Given the description of an element on the screen output the (x, y) to click on. 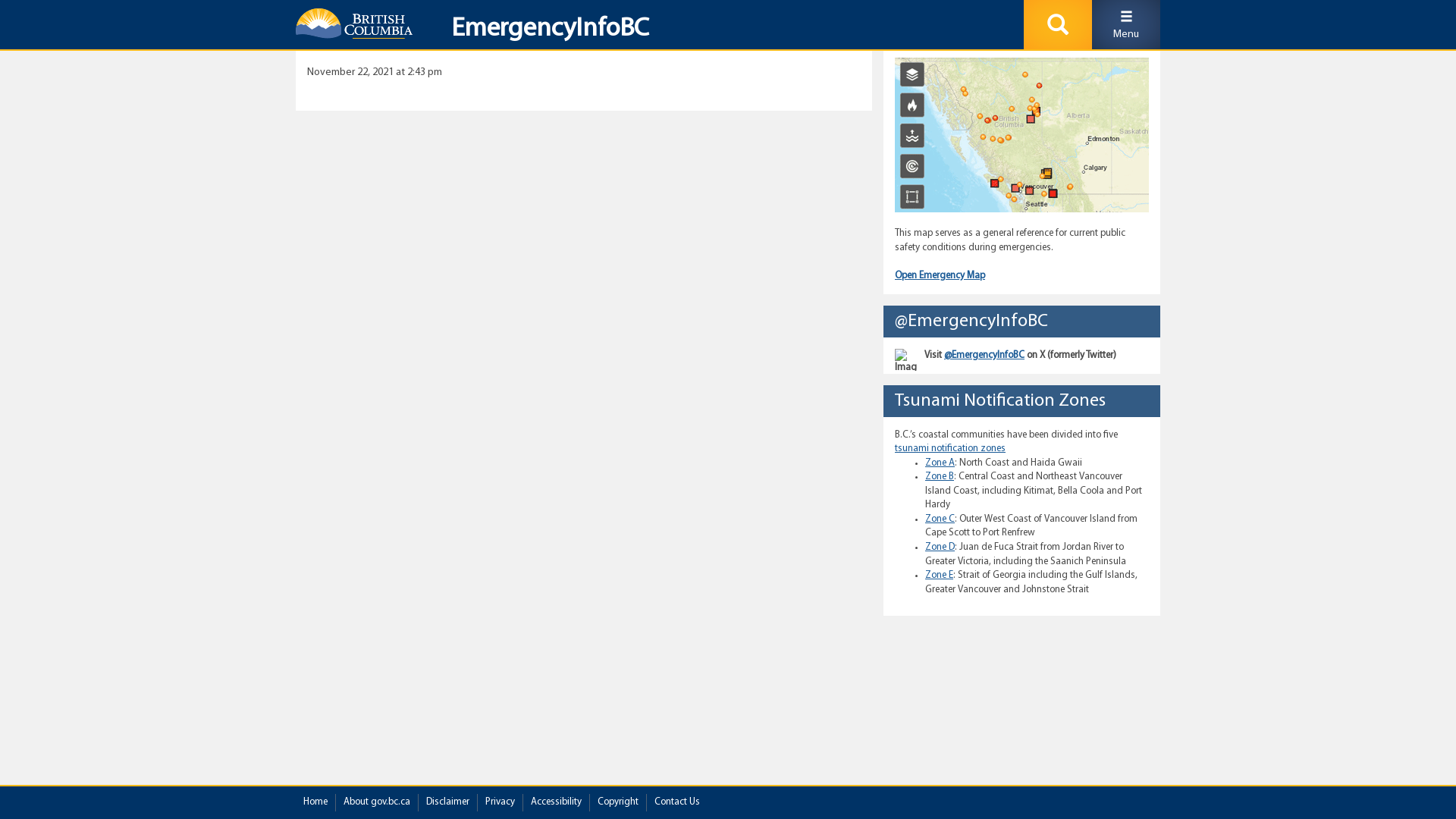
Disclaimer Element type: text (447, 802)
Zone C Element type: text (939, 519)
Zone B Element type: text (939, 476)
Copyright Element type: text (617, 802)
Open Emergency Map Element type: text (939, 275)
tsunami notification zones Element type: text (949, 448)
Toggle Search Element type: text (1057, 24)
Toggle Menu Element type: text (1126, 24)
Zone E Element type: text (939, 575)
Zone A Element type: text (939, 462)
Accessibility Element type: text (555, 802)
Privacy Element type: text (499, 802)
About gov.bc.ca Element type: text (376, 802)
EmergencyInfoBC Element type: text (544, 32)
Contact Us Element type: text (676, 802)
@EmergencyInfoBC Element type: text (984, 355)
Zone D Element type: text (939, 547)
Home Element type: text (315, 802)
